Given the description of an element on the screen output the (x, y) to click on. 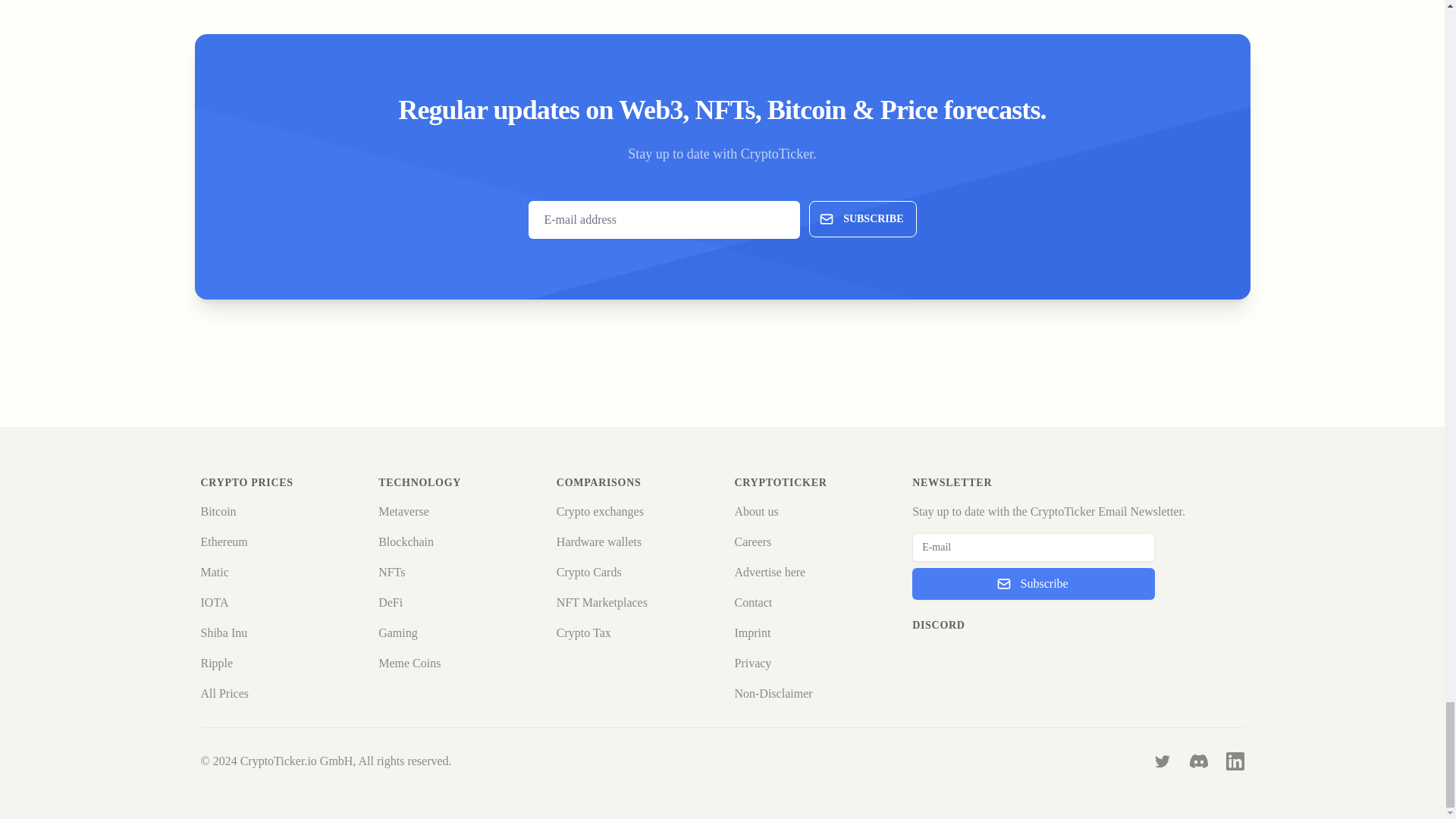
Shiba Inu (223, 632)
SUBSCRIBE (862, 218)
Ripple (216, 662)
IOTA (214, 602)
Metaverse (403, 511)
Matic (214, 571)
Ethereum (223, 541)
Blockchain (405, 541)
NFTs (391, 571)
Bitcoin (217, 511)
